Given the description of an element on the screen output the (x, y) to click on. 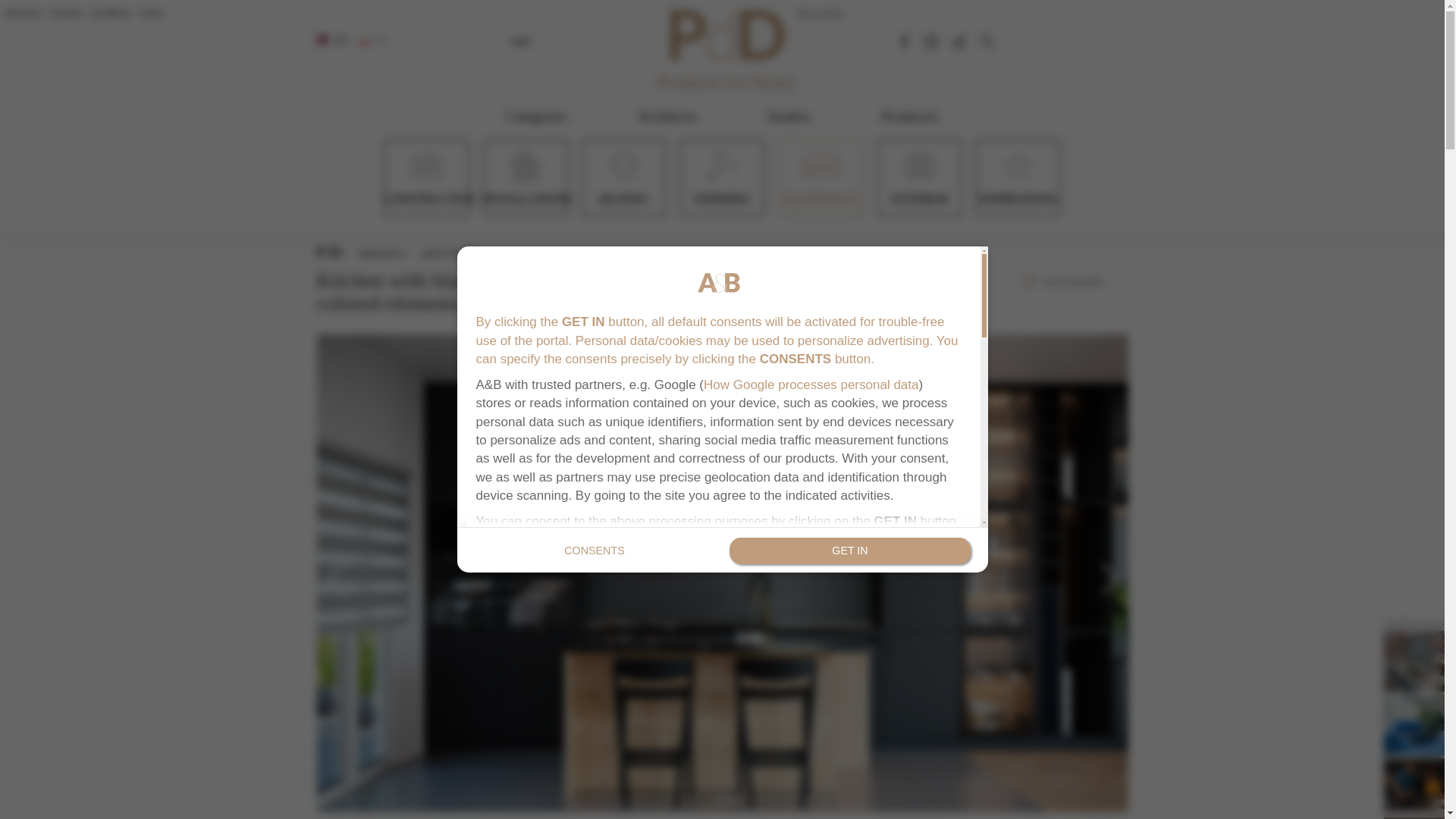
EXTERIOR (918, 198)
PL (374, 40)
FINISHING (722, 198)
Architects (667, 116)
Home products - home page (724, 31)
CONSTRUCTION (429, 198)
Studios (788, 116)
HEATING (623, 198)
login (521, 40)
panel-uzytkownika (521, 40)
Producers (909, 116)
Home products - home page (697, 31)
wyszukiwarka (986, 41)
